Given the description of an element on the screen output the (x, y) to click on. 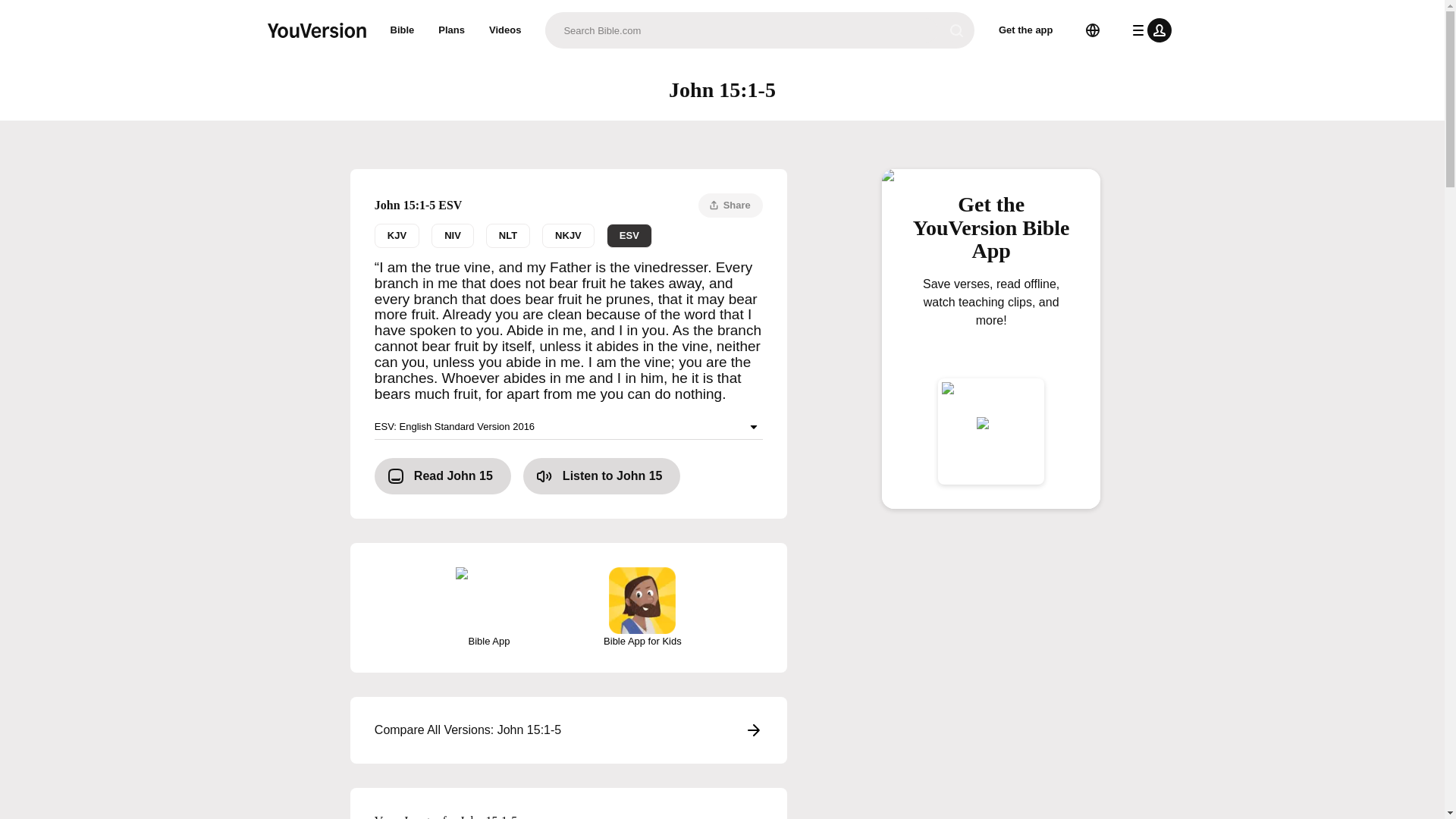
ESV (629, 235)
NIV (452, 235)
Bible App (488, 608)
Listen to John 15 (601, 475)
KJV (396, 235)
Bible (568, 235)
Bible App for Kids (401, 29)
Compare All Versions: John 15:1-5 (642, 608)
NLT (568, 730)
Plans (507, 235)
ESV: English Standard Version 2016 (451, 29)
Videos (568, 426)
Get the app (504, 29)
Share (1026, 29)
